Given the description of an element on the screen output the (x, y) to click on. 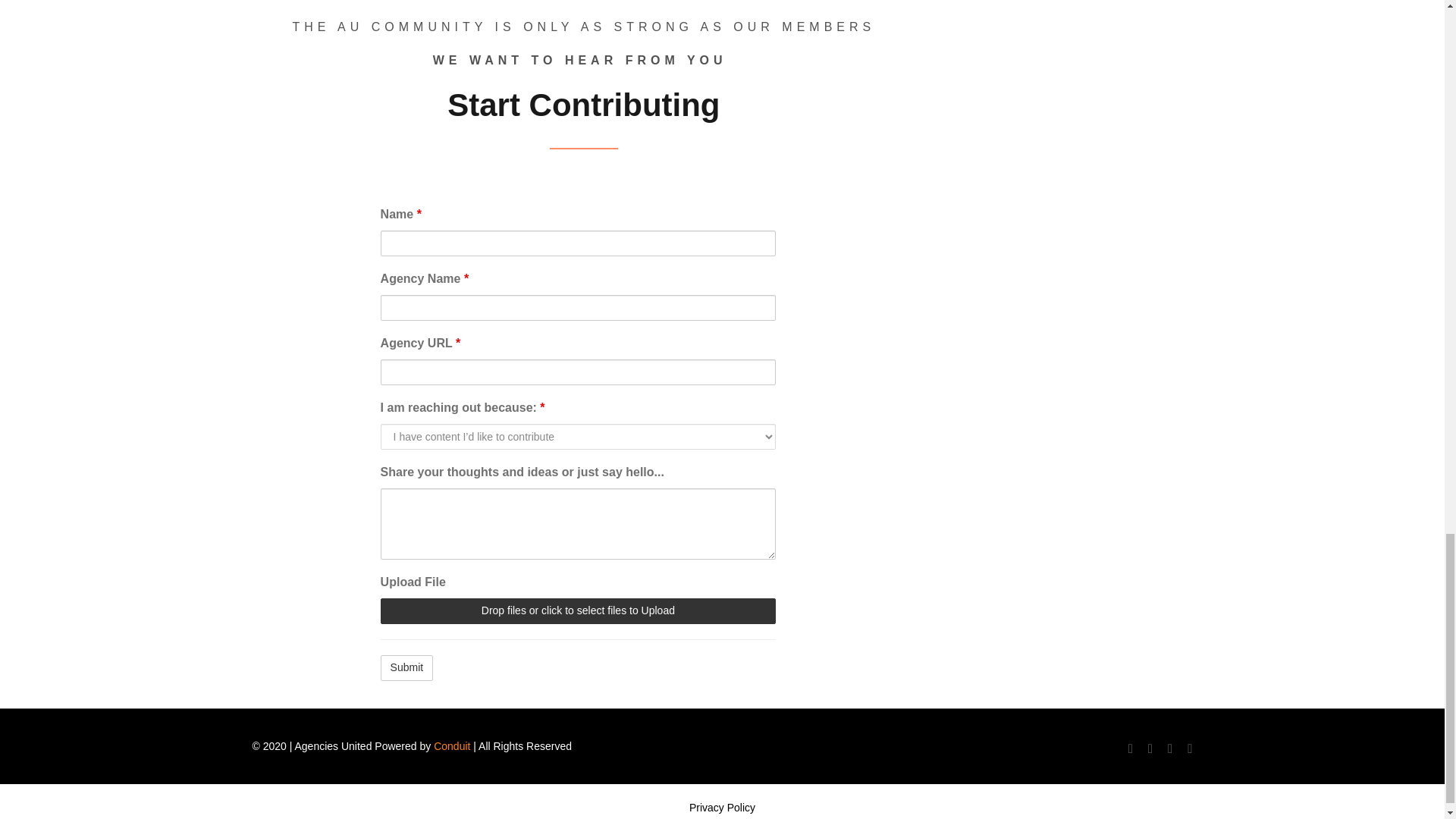
Submit (406, 667)
